Given the description of an element on the screen output the (x, y) to click on. 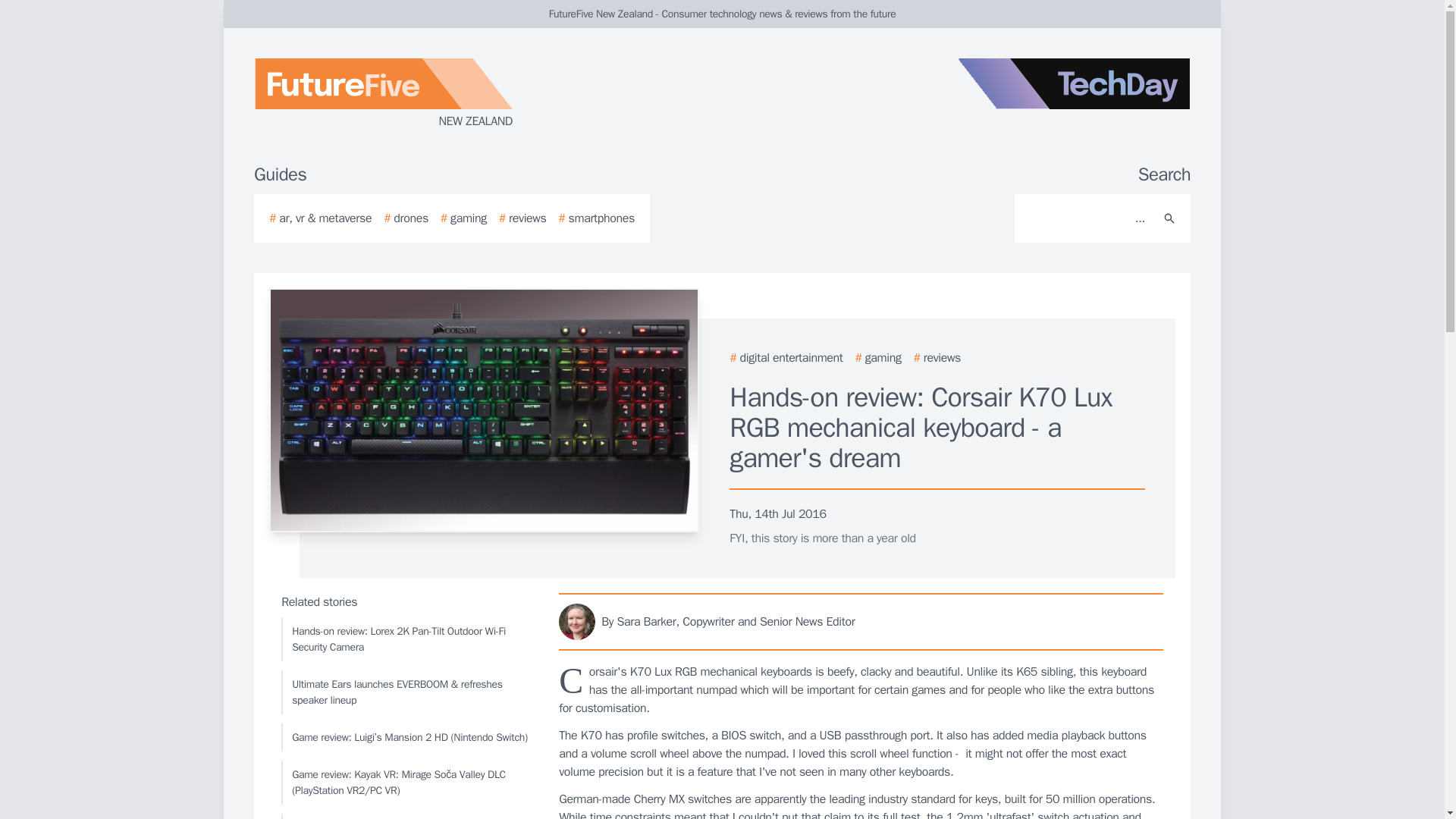
By Sara Barker, Copywriter and Senior News Editor (861, 621)
NEW ZEALAND (435, 94)
